Given the description of an element on the screen output the (x, y) to click on. 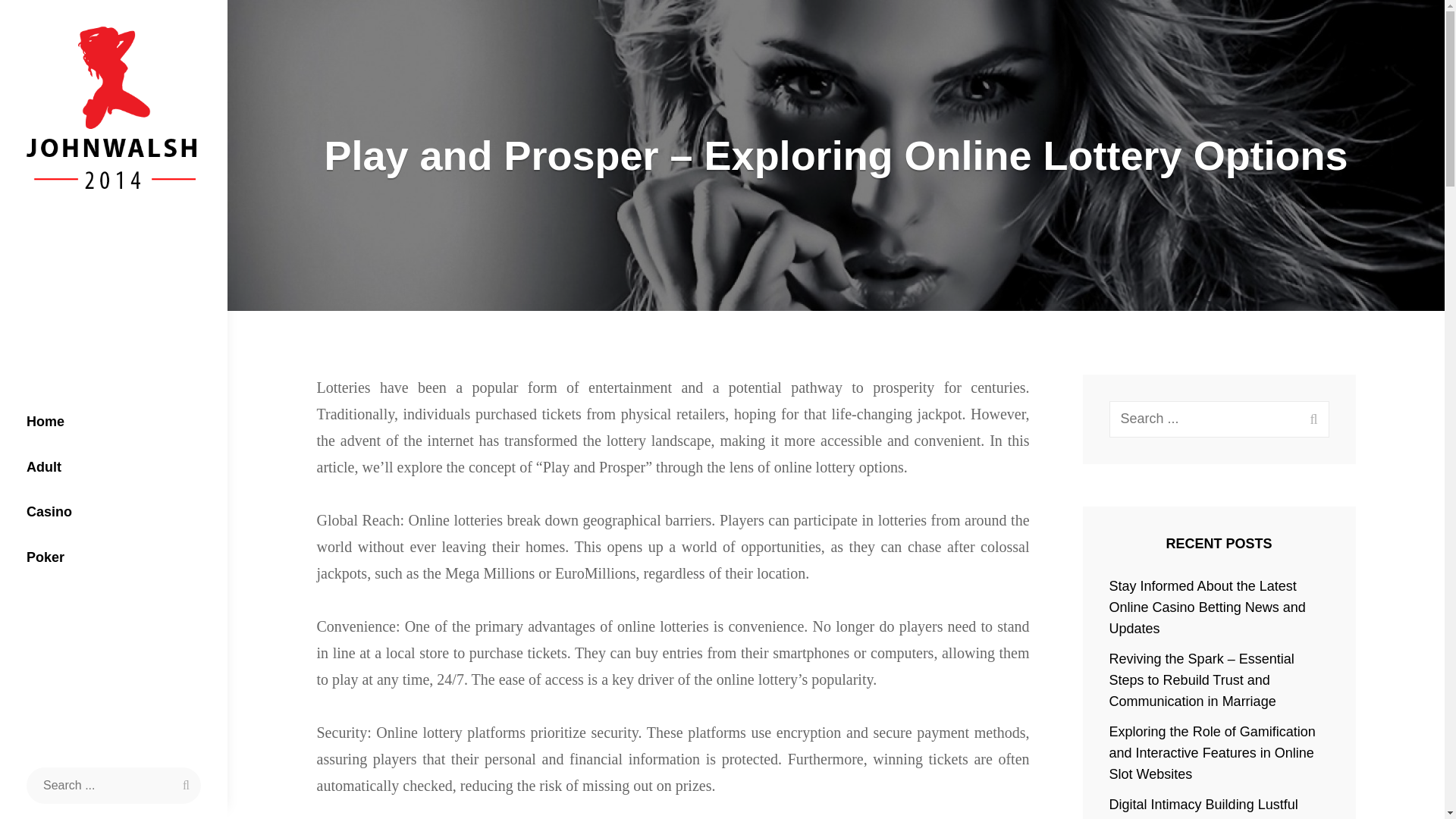
Search for: (113, 785)
Search for: (1219, 418)
Casino (113, 512)
Poker (113, 557)
Home (113, 422)
Digital Intimacy Building Lustful Connections Online (1203, 807)
JOHNWALSH2014 (130, 216)
Adult (113, 467)
